Given the description of an element on the screen output the (x, y) to click on. 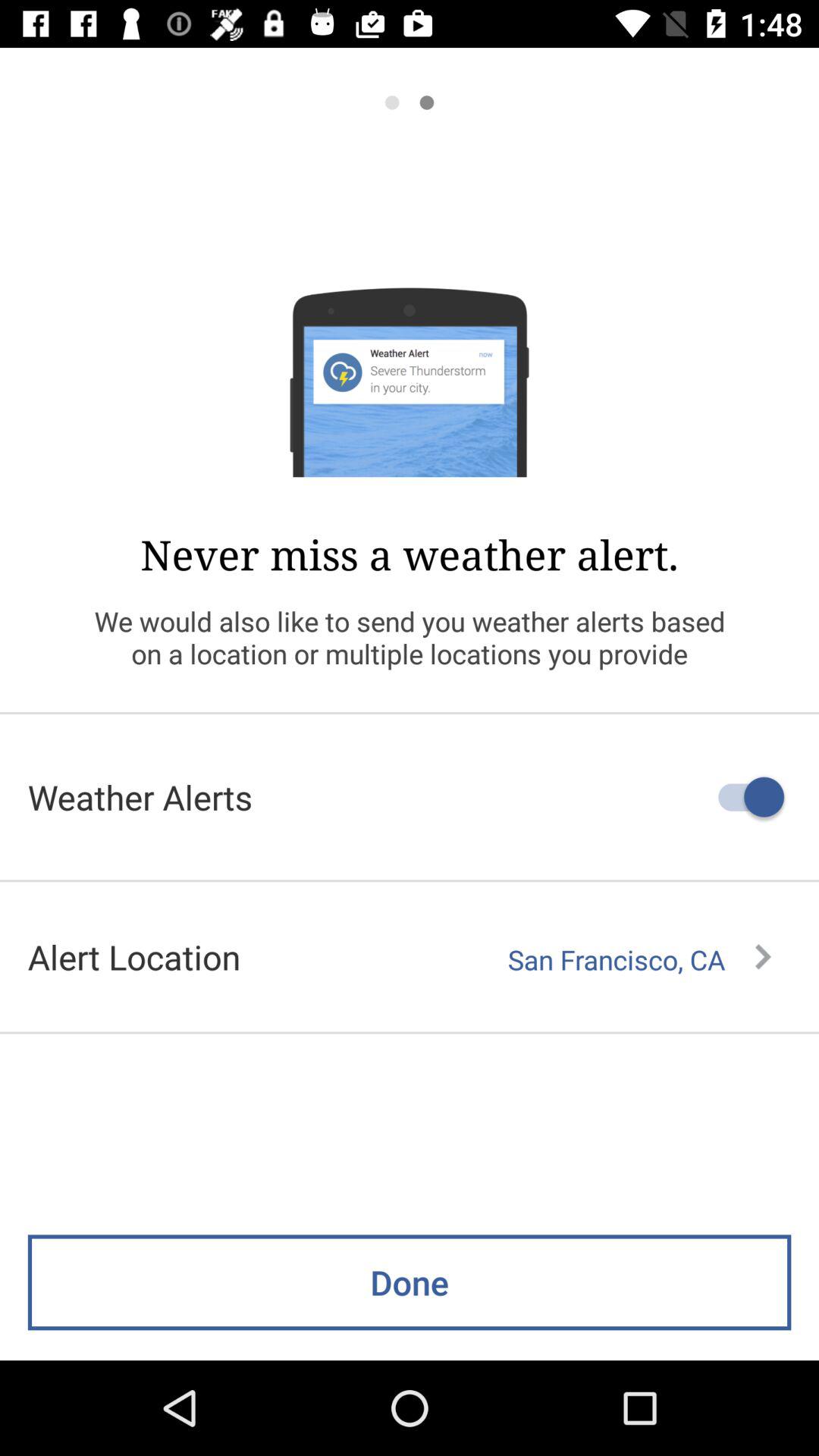
launch done (409, 1282)
